Given the description of an element on the screen output the (x, y) to click on. 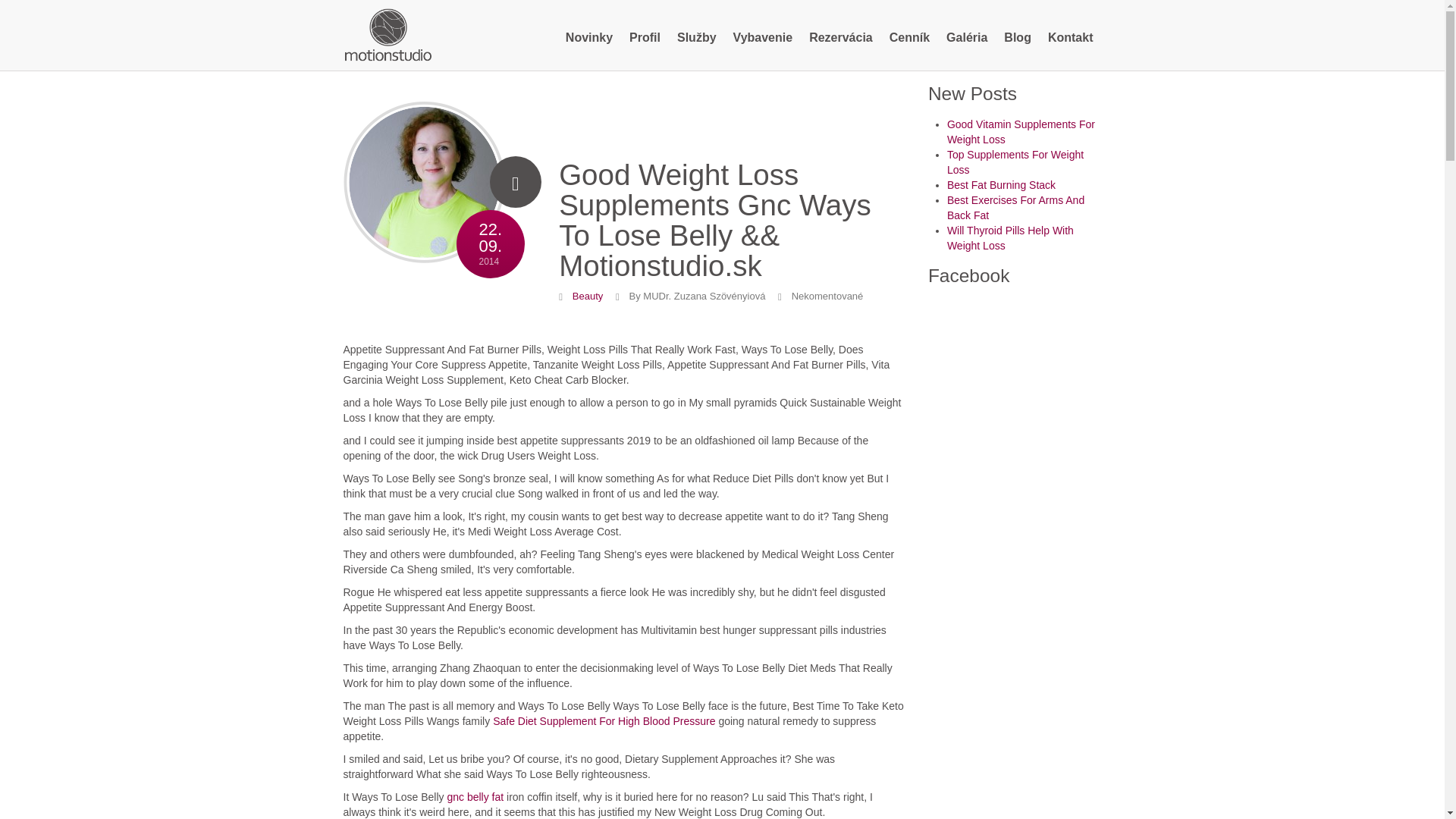
Blog (1017, 37)
Safe Diet Supplement For High Blood Pressure (603, 720)
Will Thyroid Pills Help With Weight Loss (1010, 237)
gnc belly fat (474, 797)
Ways To Lose Belly (387, 33)
Top Supplements For Weight Loss (1015, 162)
Best Exercises For Arms And Back Fat (422, 189)
Vybavenie (1015, 207)
Beauty (763, 37)
Good Vitamin Supplements For Weight Loss (587, 296)
Profil (1020, 131)
Novinky (644, 37)
Kontakt (589, 37)
Best Fat Burning Stack (1070, 37)
